Given the description of an element on the screen output the (x, y) to click on. 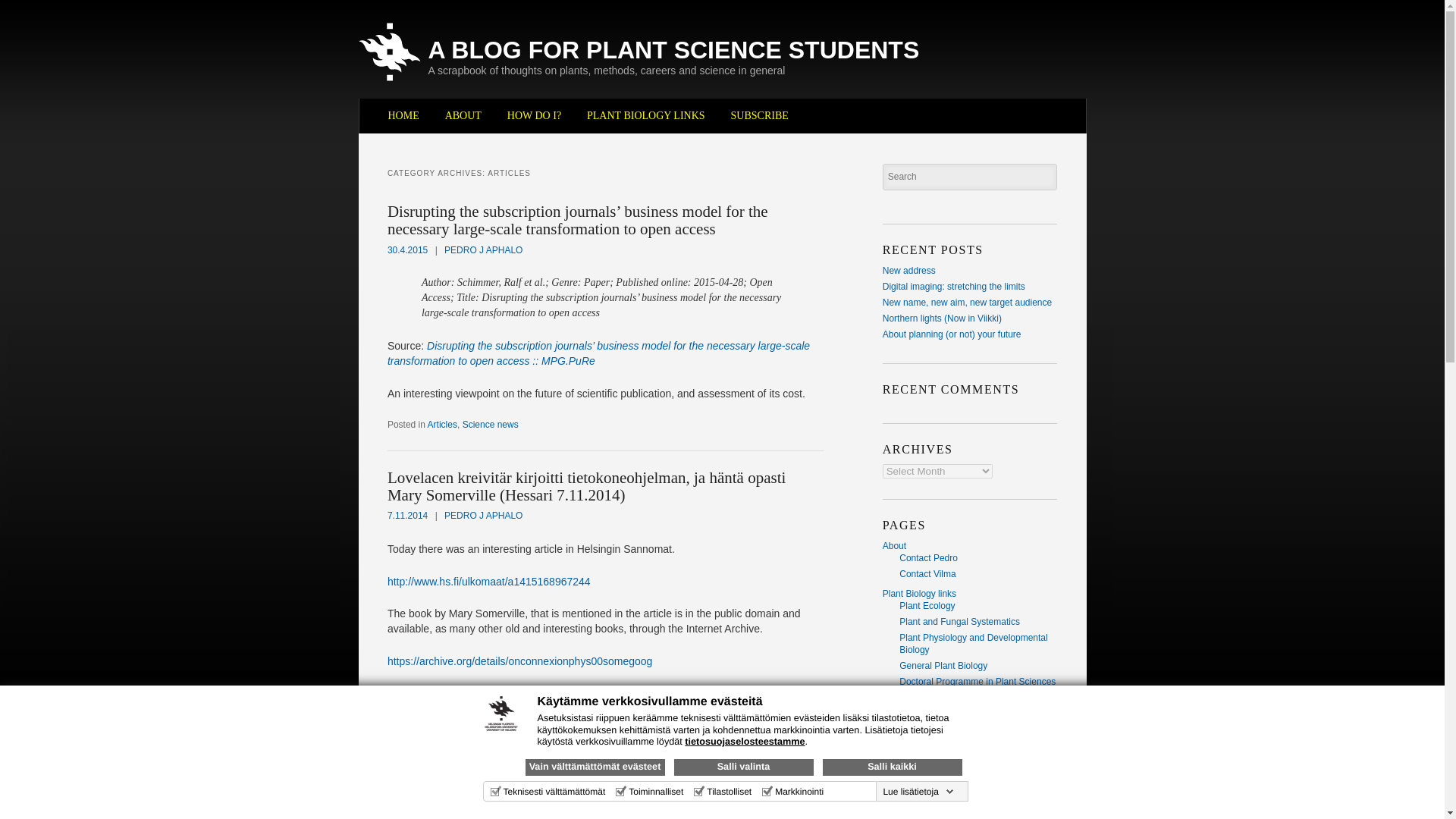
Salli kaikki (891, 767)
tietosuojaselosteestamme (744, 741)
Salli valinta (742, 767)
